Given the description of an element on the screen output the (x, y) to click on. 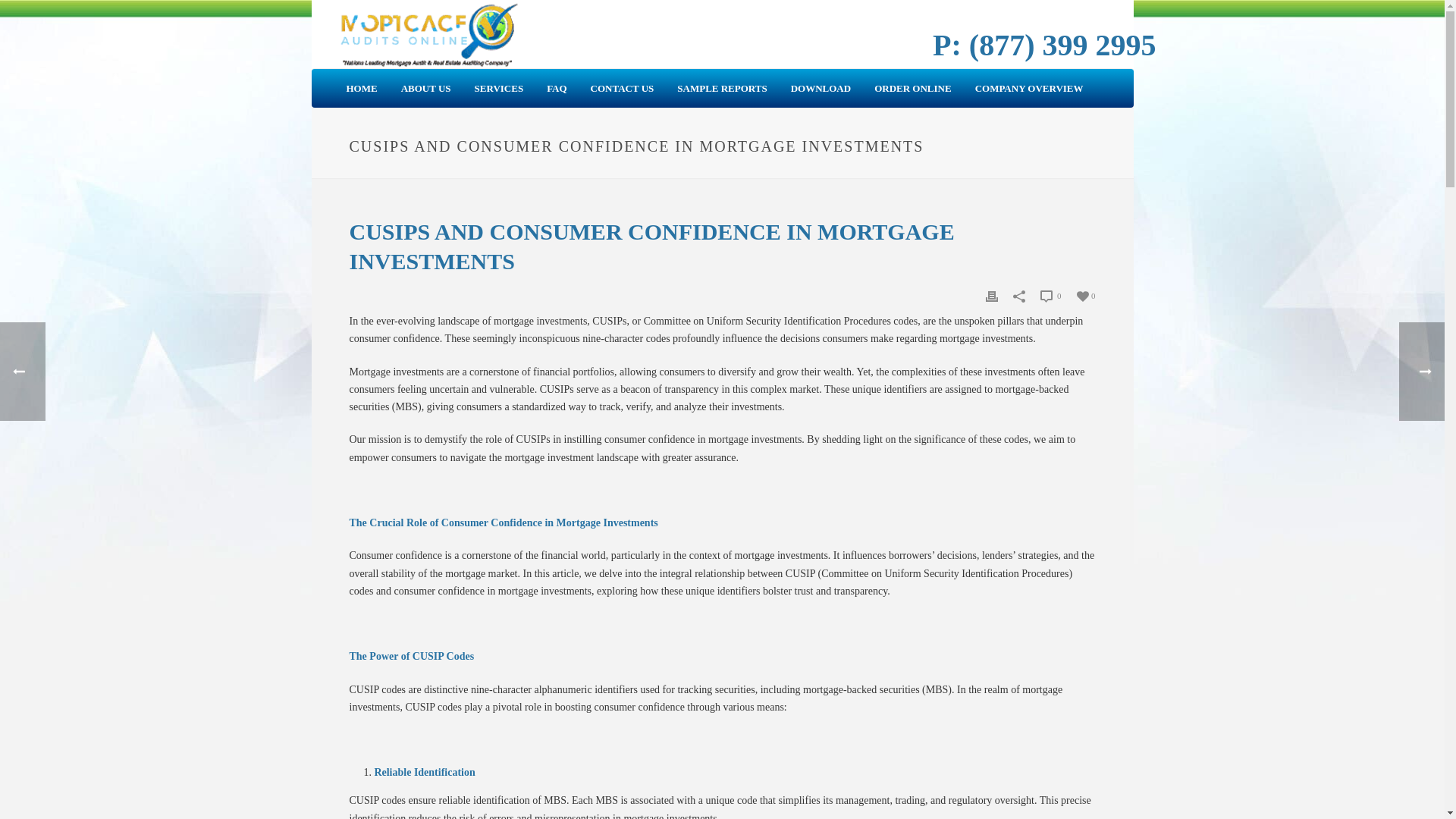
ABOUT US (426, 87)
DOWNLOAD (819, 87)
COMPANY OVERVIEW (1028, 87)
SERVICES (499, 87)
CONTACT US (622, 87)
ABOUT US (426, 87)
CONTACT US (622, 87)
ORDER ONLINE (912, 87)
HOME (361, 87)
SERVICES (499, 87)
